Given the description of an element on the screen output the (x, y) to click on. 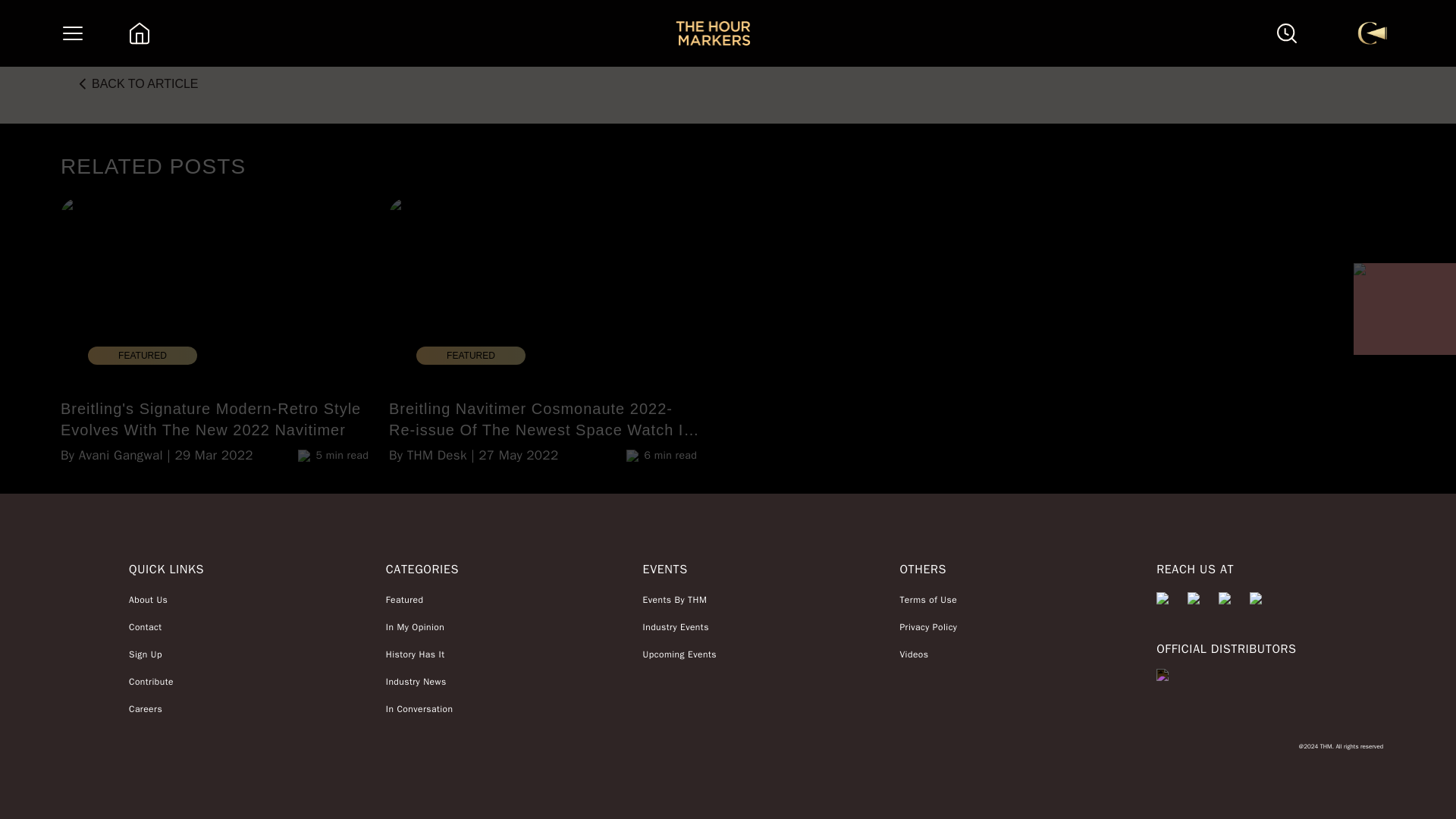
Sign Up (151, 654)
Featured (418, 599)
In My Opinion (418, 626)
Contribute (151, 681)
Contact (151, 626)
About Us (151, 599)
BACK TO ARTICLE (135, 83)
SIGN UP (1290, 2)
Careers (151, 708)
LOG IN (1241, 2)
